Given the description of an element on the screen output the (x, y) to click on. 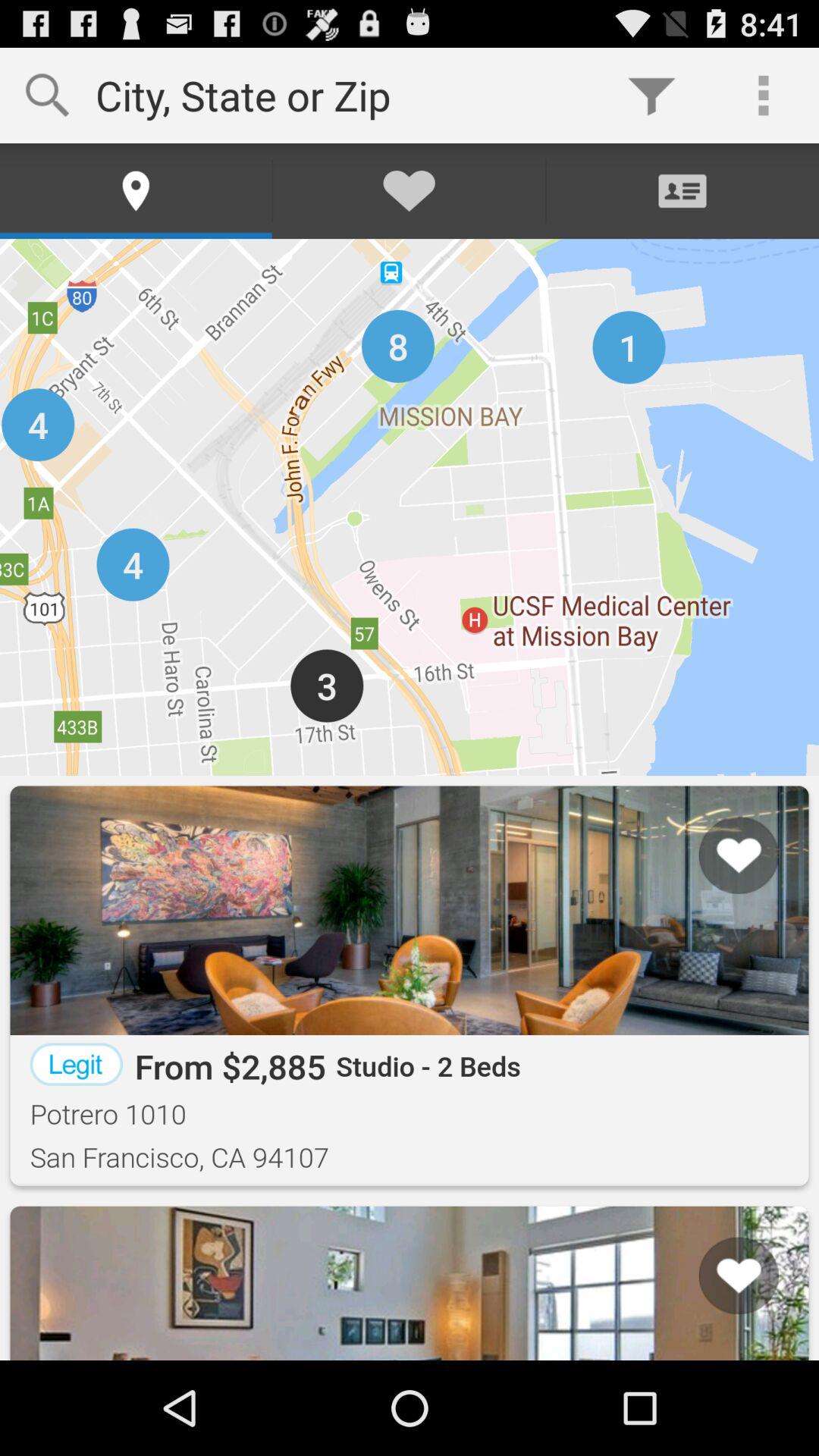
select button to the left of the list button (57, 1302)
